Given the description of an element on the screen output the (x, y) to click on. 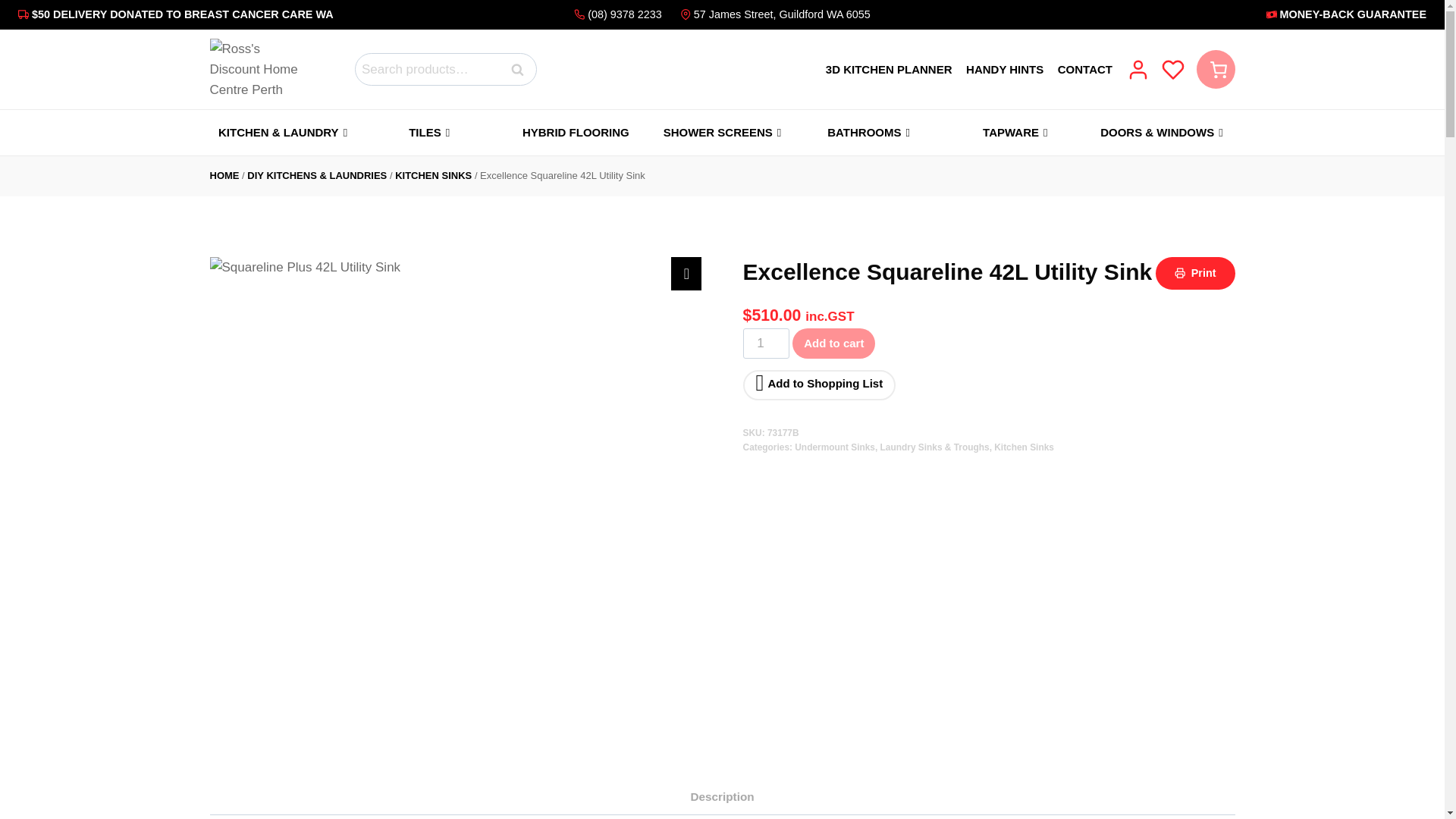
3D KITCHEN PLANNER (888, 68)
57 James Street, Guildford WA 6055 (772, 14)
CONTACT (1085, 68)
Excellence Squareline 42L Utility Sink (258, 69)
1 (766, 343)
Search (518, 69)
MONEY-BACK GUARANTEE (1199, 14)
HANDY HINTS (1004, 68)
